Given the description of an element on the screen output the (x, y) to click on. 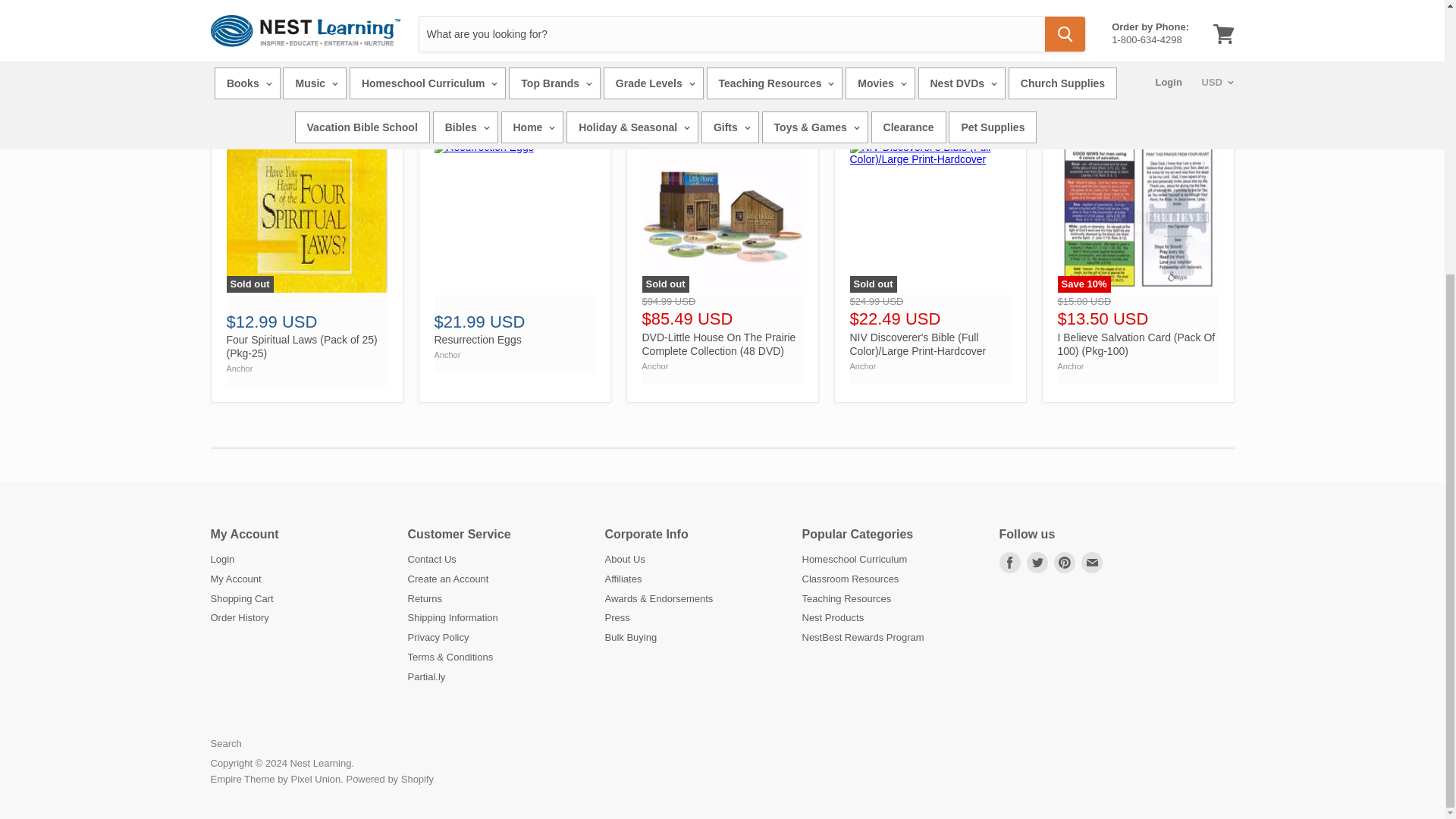
E-mail (1091, 562)
Pinterest (1064, 562)
Twitter (1037, 562)
Facebook (1009, 562)
